Given the description of an element on the screen output the (x, y) to click on. 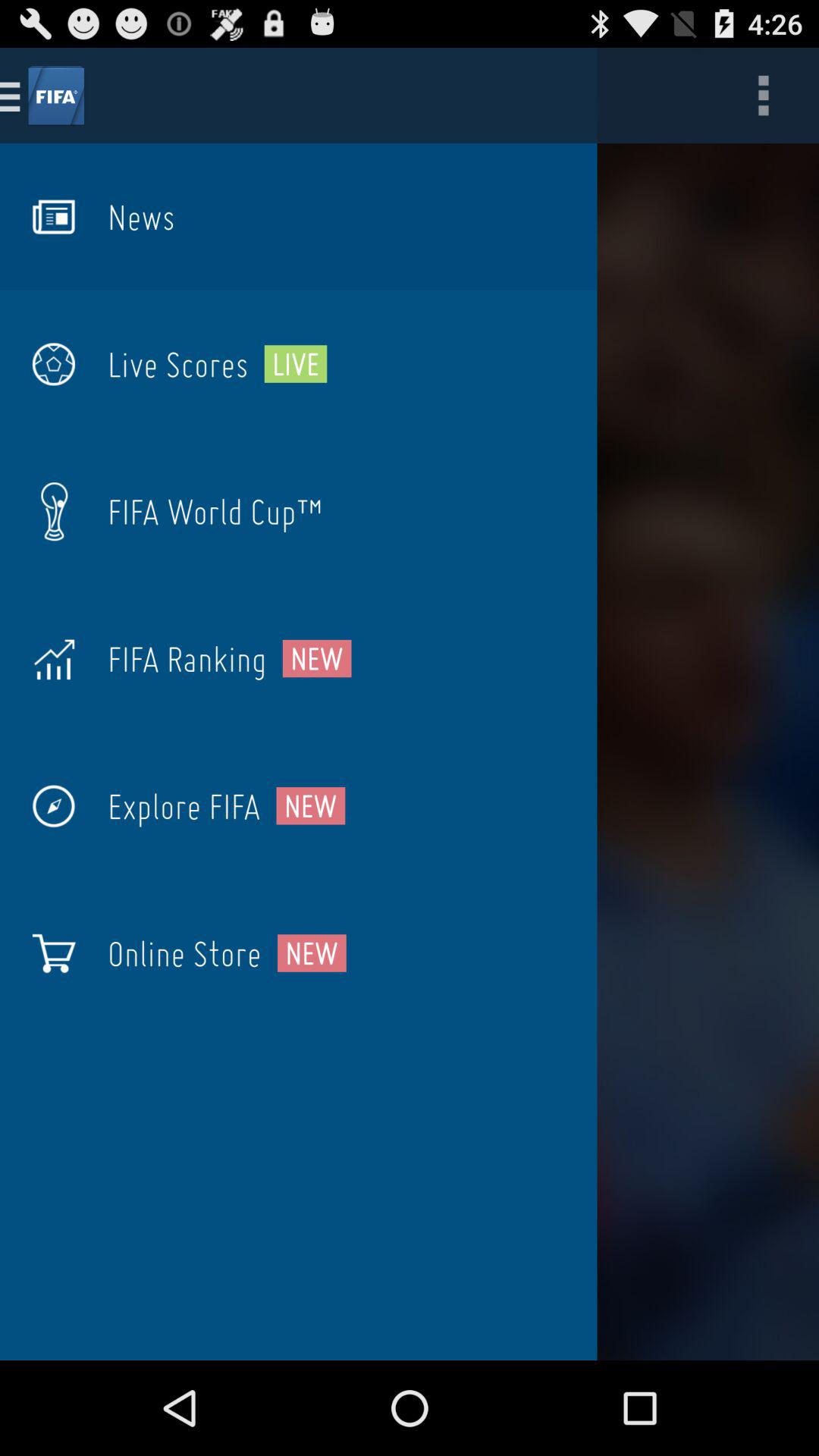
turn off the online store item (184, 953)
